Given the description of an element on the screen output the (x, y) to click on. 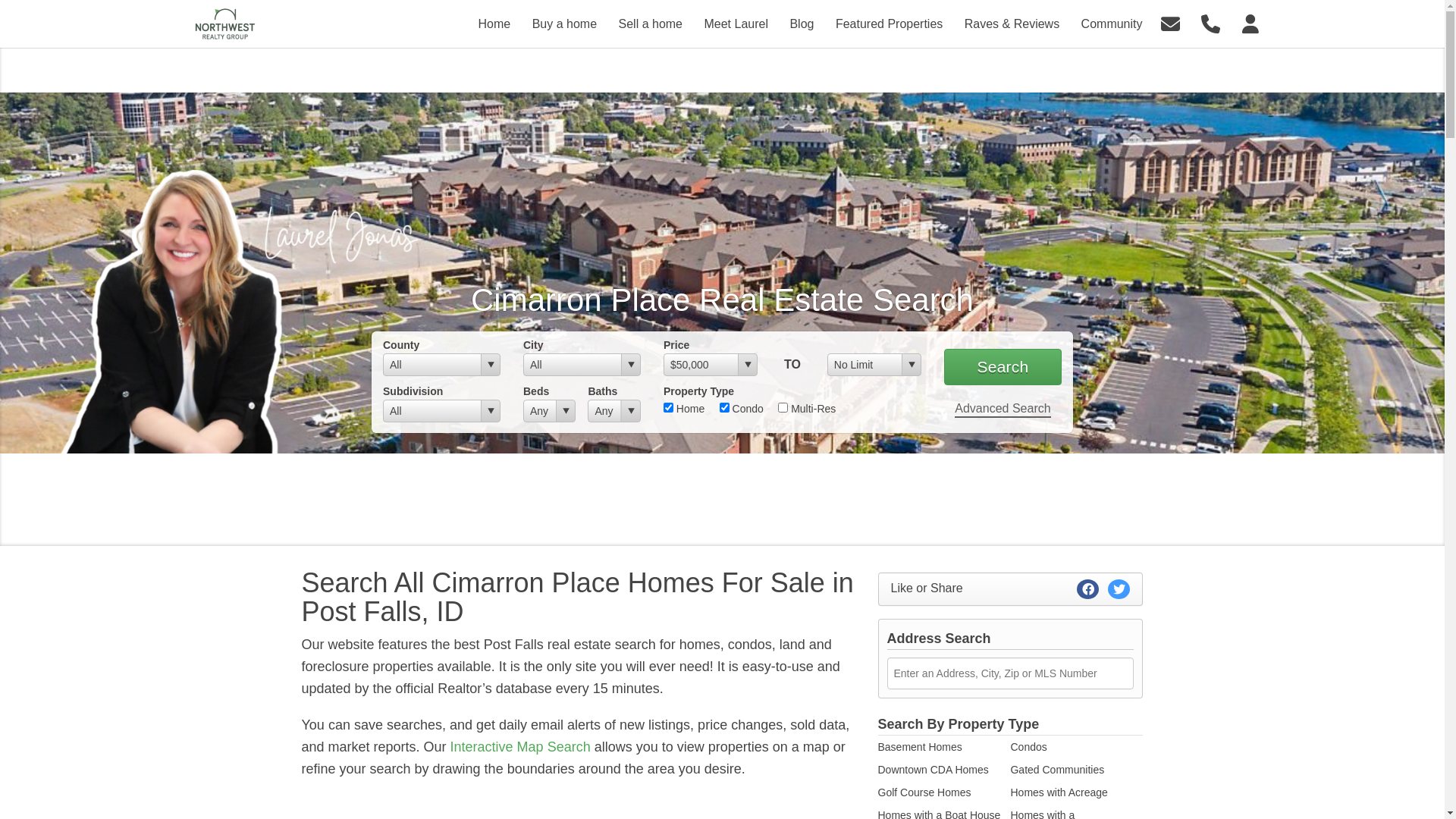
Advanced Search Element type: text (1002, 409)
Buy a home Element type: text (564, 23)
Homes with Acreage Element type: text (1058, 792)
Meet Laurel Element type: text (735, 23)
Open contact form Element type: hover (1170, 22)
Sell a home Element type: text (650, 23)
Basement Homes Element type: text (920, 746)
Interactive Map Search Element type: text (520, 746)
Home Element type: text (494, 23)
Search Element type: text (1002, 366)
Downtown CDA Homes Element type: text (933, 769)
Blog Element type: text (801, 23)
Condos Element type: text (1028, 746)
Featured Properties Element type: text (888, 23)
Like or Share Element type: text (1010, 588)
Gated Communities Element type: text (1057, 769)
Golf Course Homes Element type: text (924, 792)
Community Element type: text (1111, 23)
Contact by Phone Element type: hover (1210, 22)
208homesforsale.com Element type: hover (225, 23)
Raves & Reviews Element type: text (1011, 23)
Login or Signup Element type: hover (1250, 22)
